Given the description of an element on the screen output the (x, y) to click on. 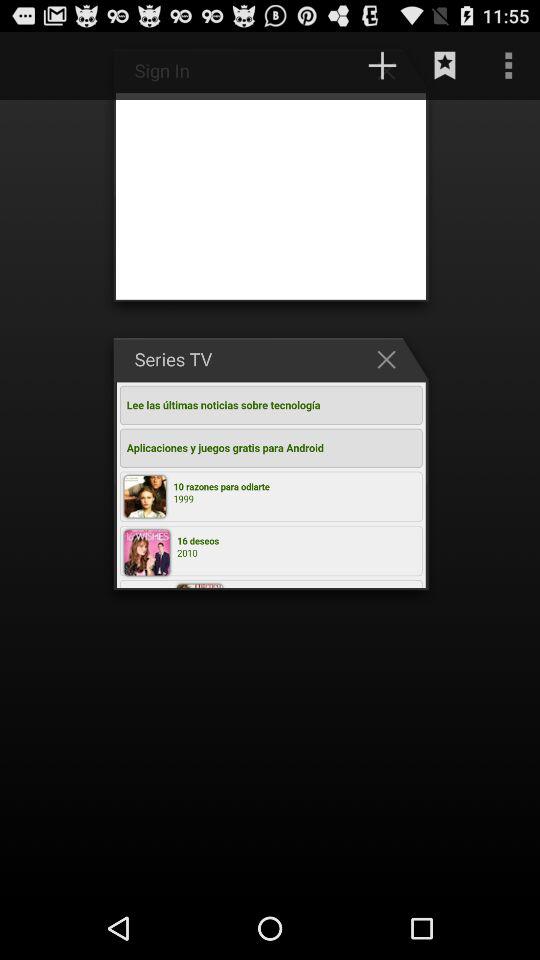
scroll to the http www javamovil icon (299, 65)
